Given the description of an element on the screen output the (x, y) to click on. 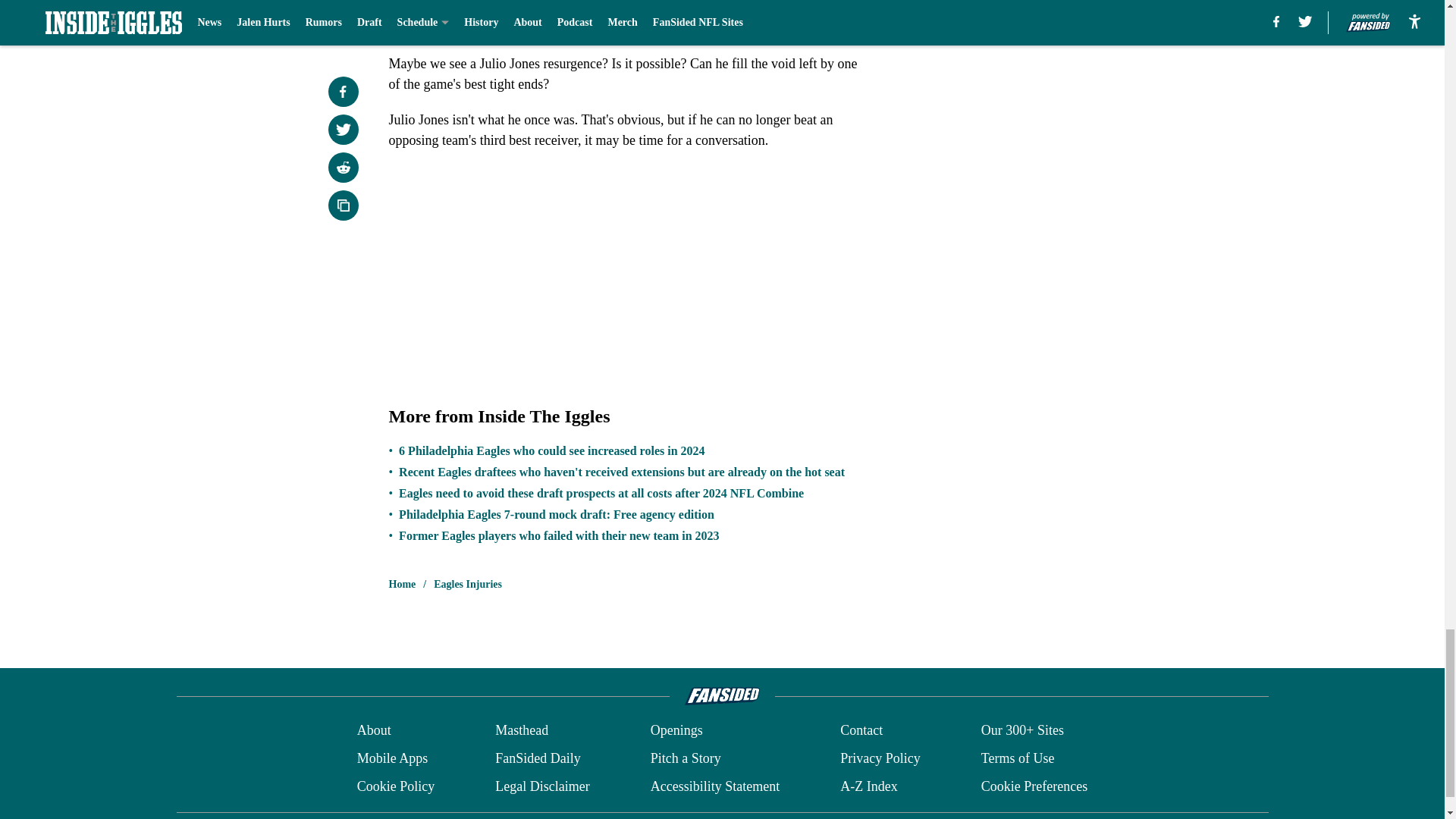
About (373, 730)
Home (401, 584)
Philadelphia Eagles 7-round mock draft: Free agency edition (556, 514)
Eagles Injuries (467, 584)
6 Philadelphia Eagles who could see increased roles in 2024 (551, 450)
Former Eagles players who failed with their new team in 2023 (558, 535)
Masthead (521, 730)
